Given the description of an element on the screen output the (x, y) to click on. 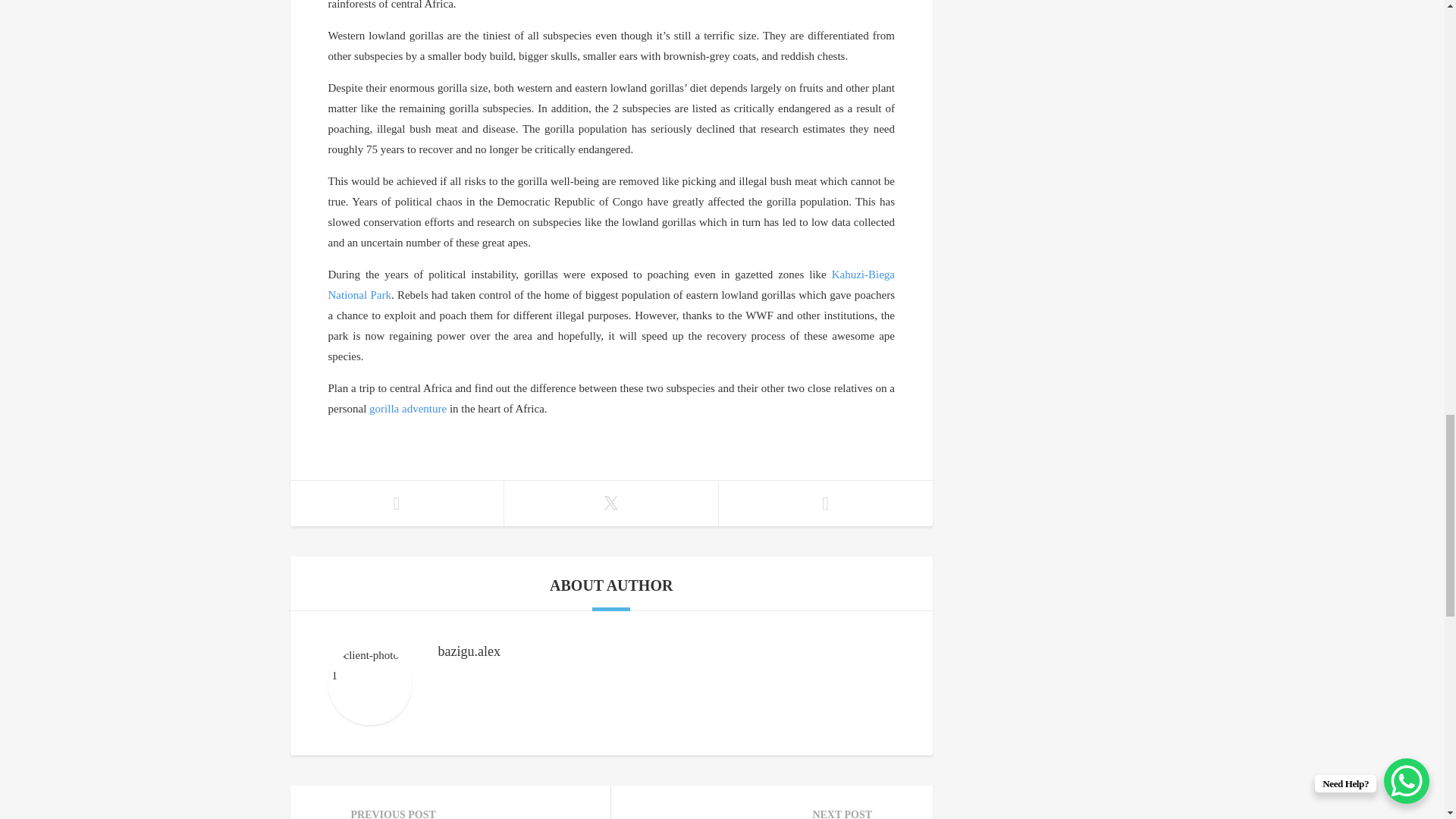
gorilla adventure (772, 802)
Kahuzi-Biega National Park (407, 408)
